Given the description of an element on the screen output the (x, y) to click on. 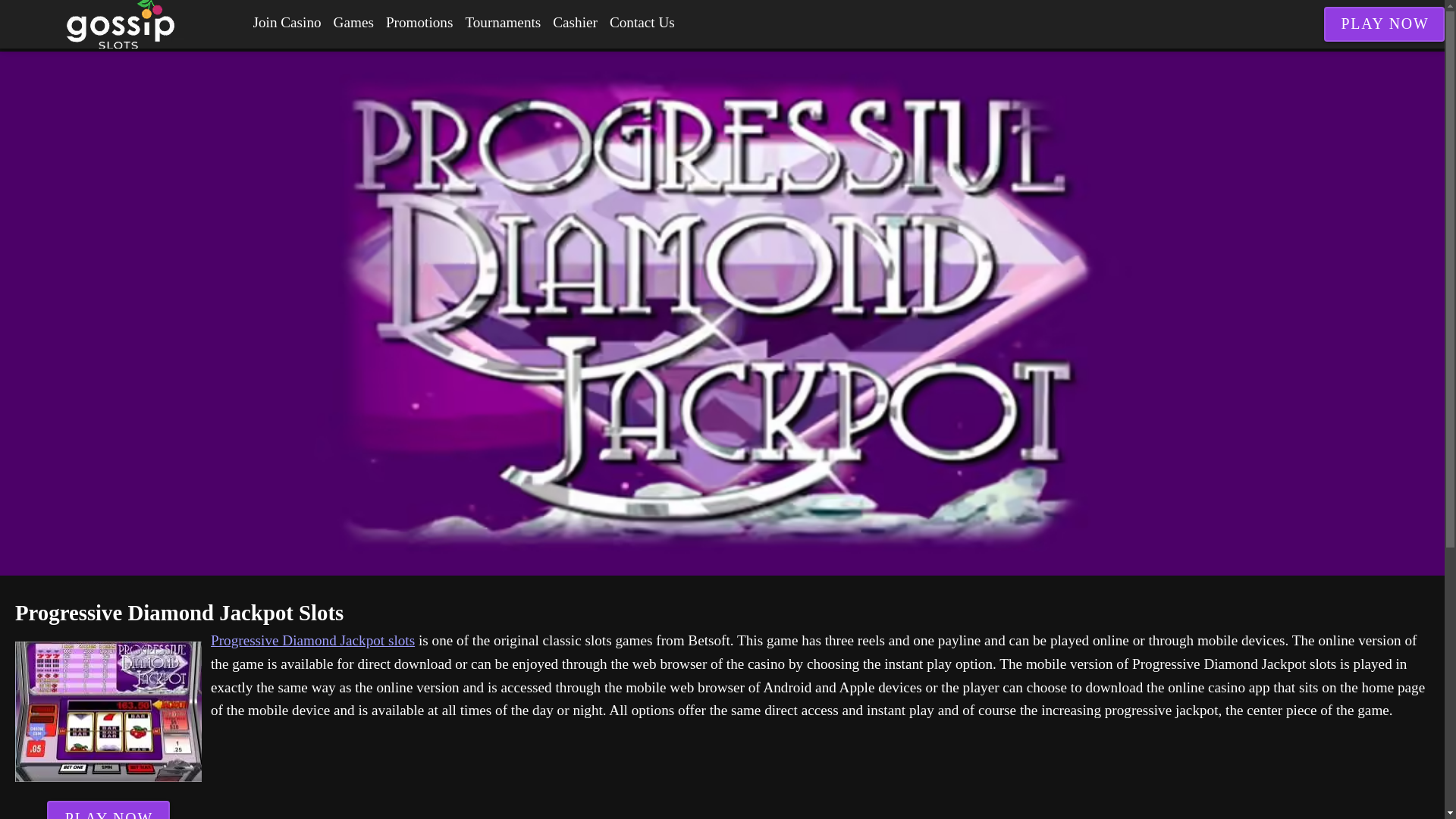
Progressive Diamond Jackpot slots (312, 640)
Cashier (575, 22)
Tournaments (502, 22)
Promotions (420, 22)
Contact Us (642, 22)
Join Casino (287, 22)
Games (353, 22)
PLAY NOW (108, 809)
